Given the description of an element on the screen output the (x, y) to click on. 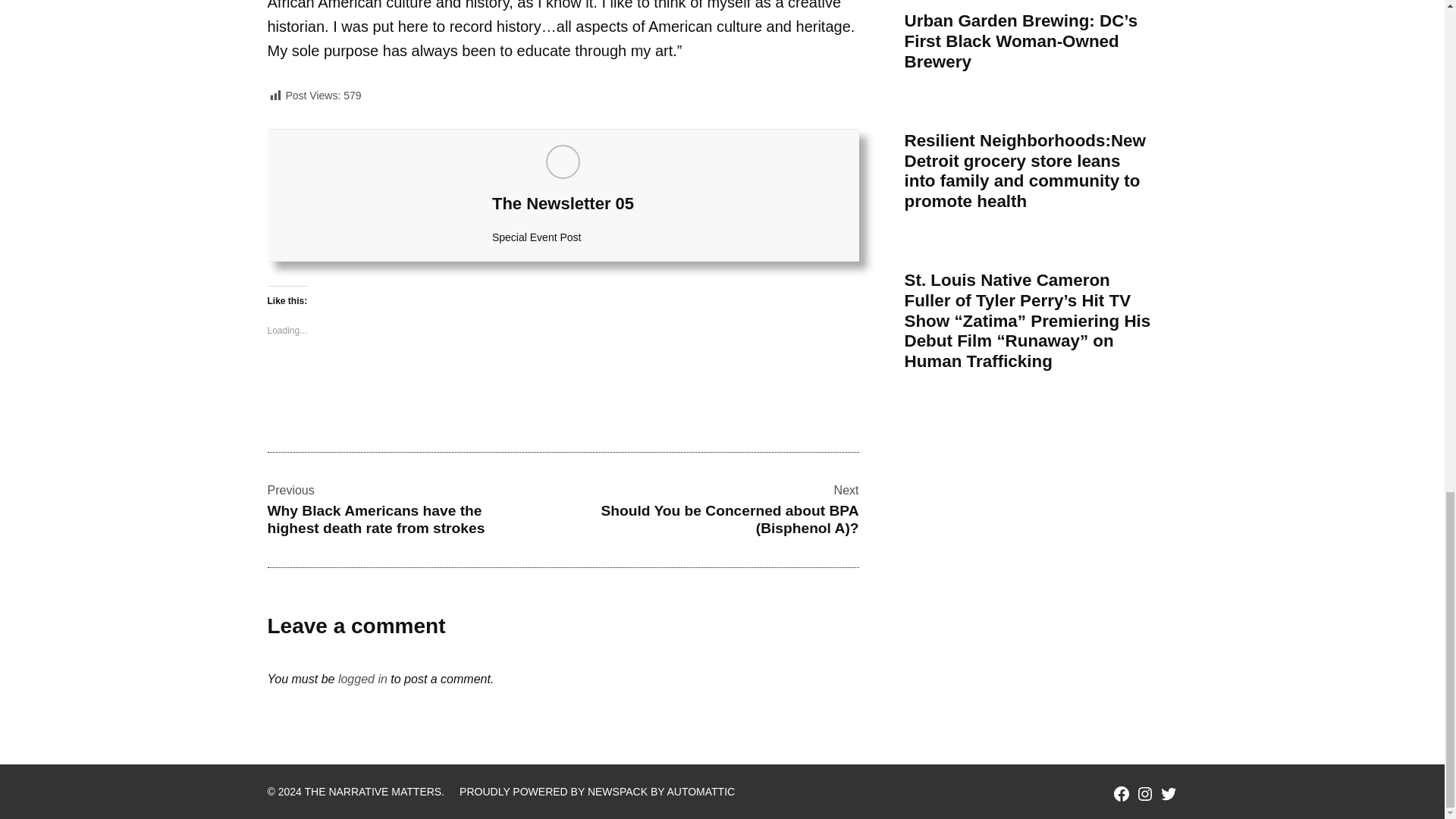
The Newsletter 05 (562, 203)
